Given the description of an element on the screen output the (x, y) to click on. 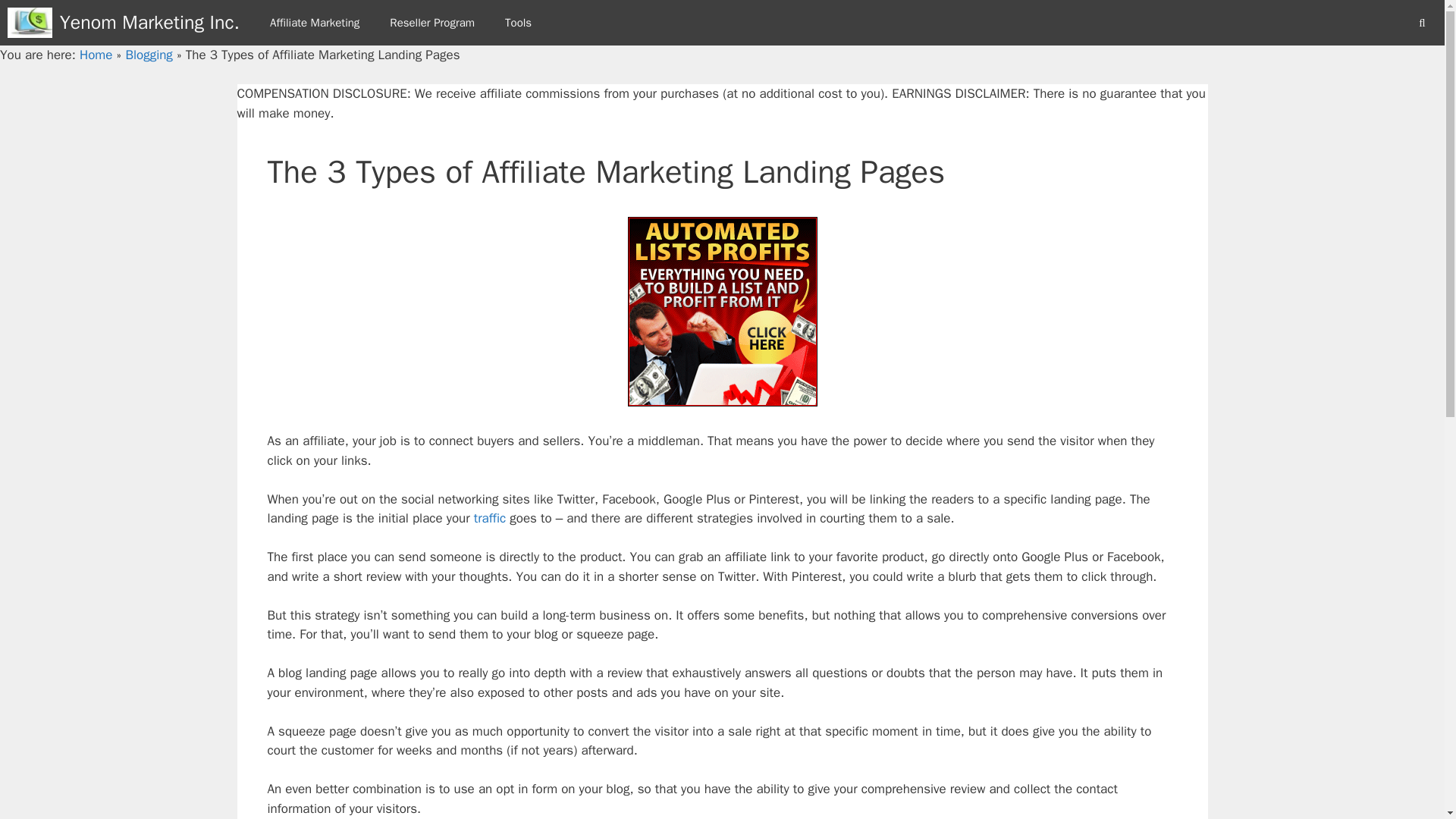
Digital Marketing Tools (518, 22)
Yenom Marketing Inc. (29, 22)
traffic (489, 518)
Yenom Marketing Inc. (33, 22)
Make Money Affiliate Marketing (314, 22)
Tools (518, 22)
Home (96, 54)
Search (35, 18)
Reseller Program (431, 22)
Yenom Marketing Inc. (149, 22)
Blogging (149, 54)
Platinum Membership Reseller Program (431, 22)
Affiliate Marketing (314, 22)
Traffic Generation Resources (489, 518)
